Given the description of an element on the screen output the (x, y) to click on. 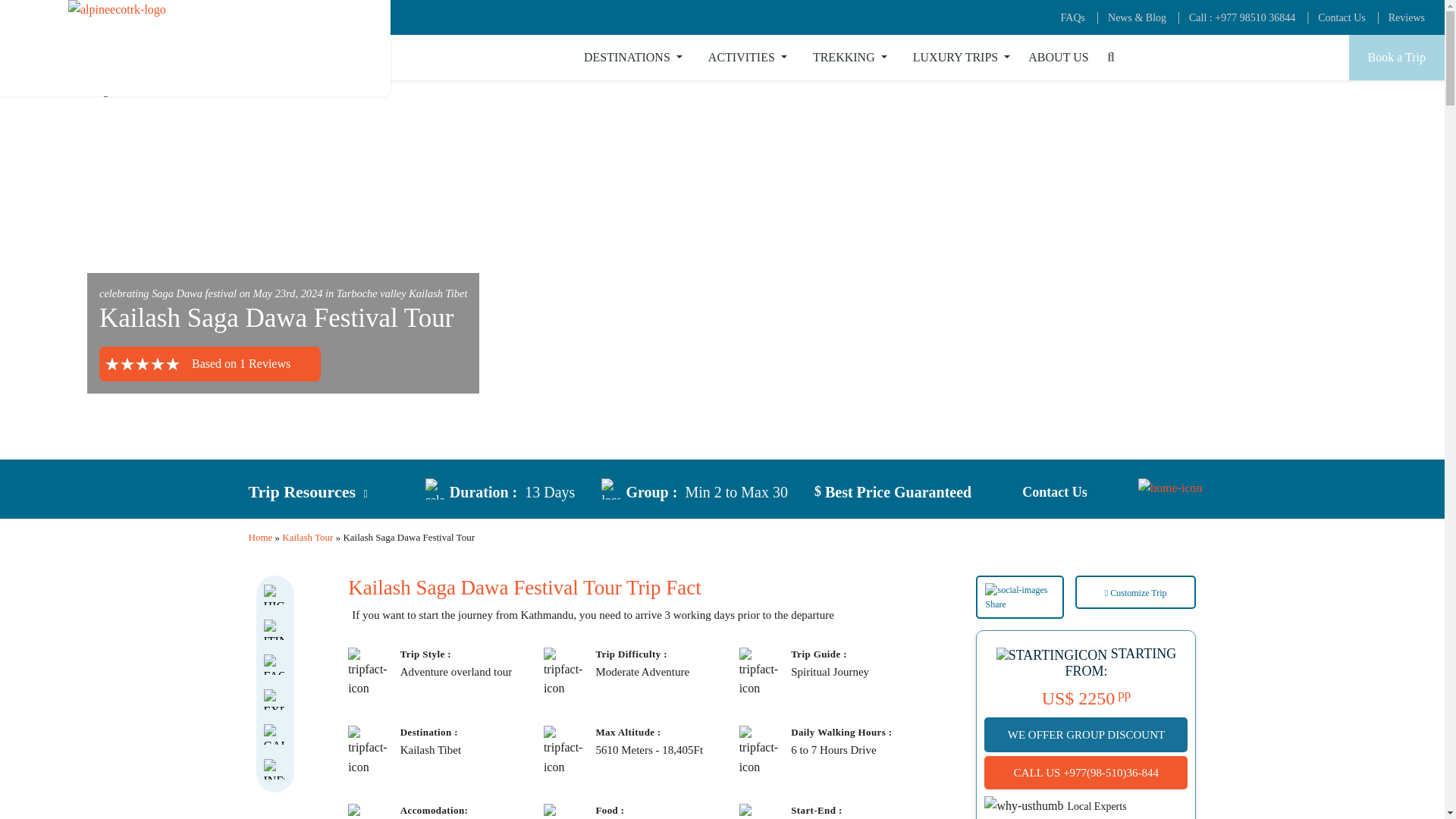
FAQs (1072, 17)
Reviews (1407, 17)
DESTINATIONS (633, 57)
Contact Us (1341, 17)
